Given the description of an element on the screen output the (x, y) to click on. 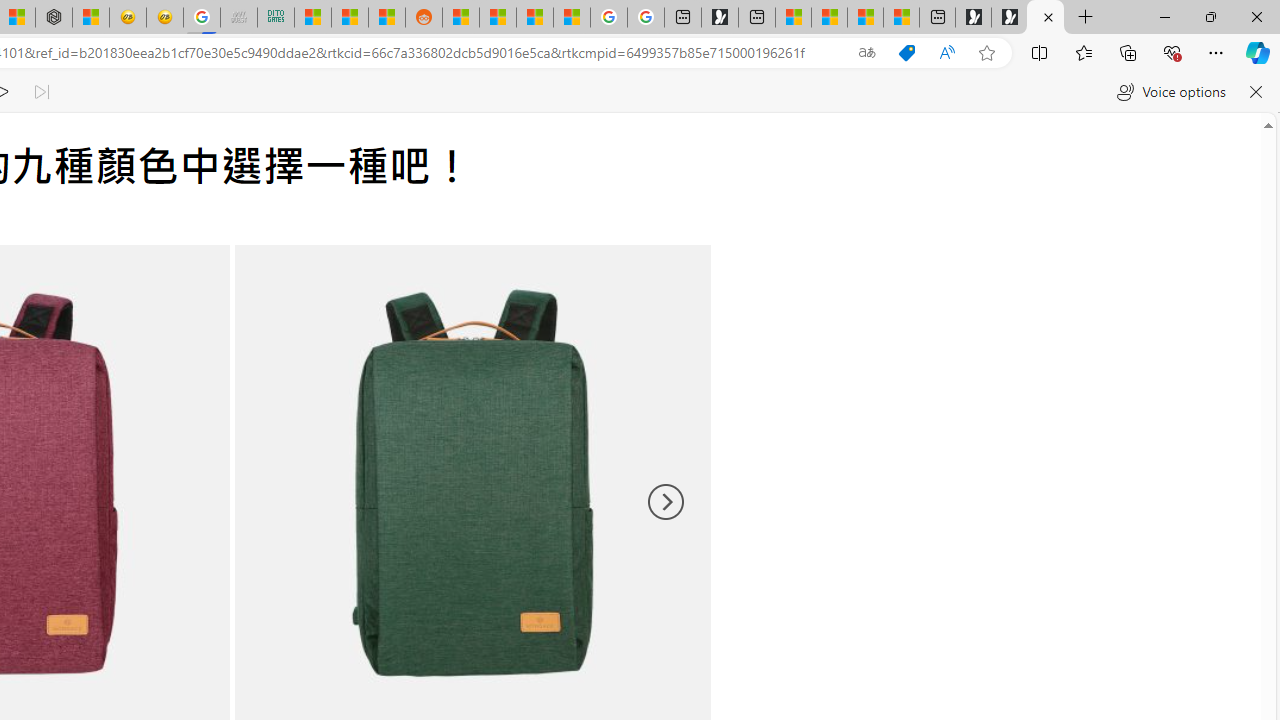
Read next paragraph (40, 92)
Class: flickity-button-icon (664, 502)
